Given the description of an element on the screen output the (x, y) to click on. 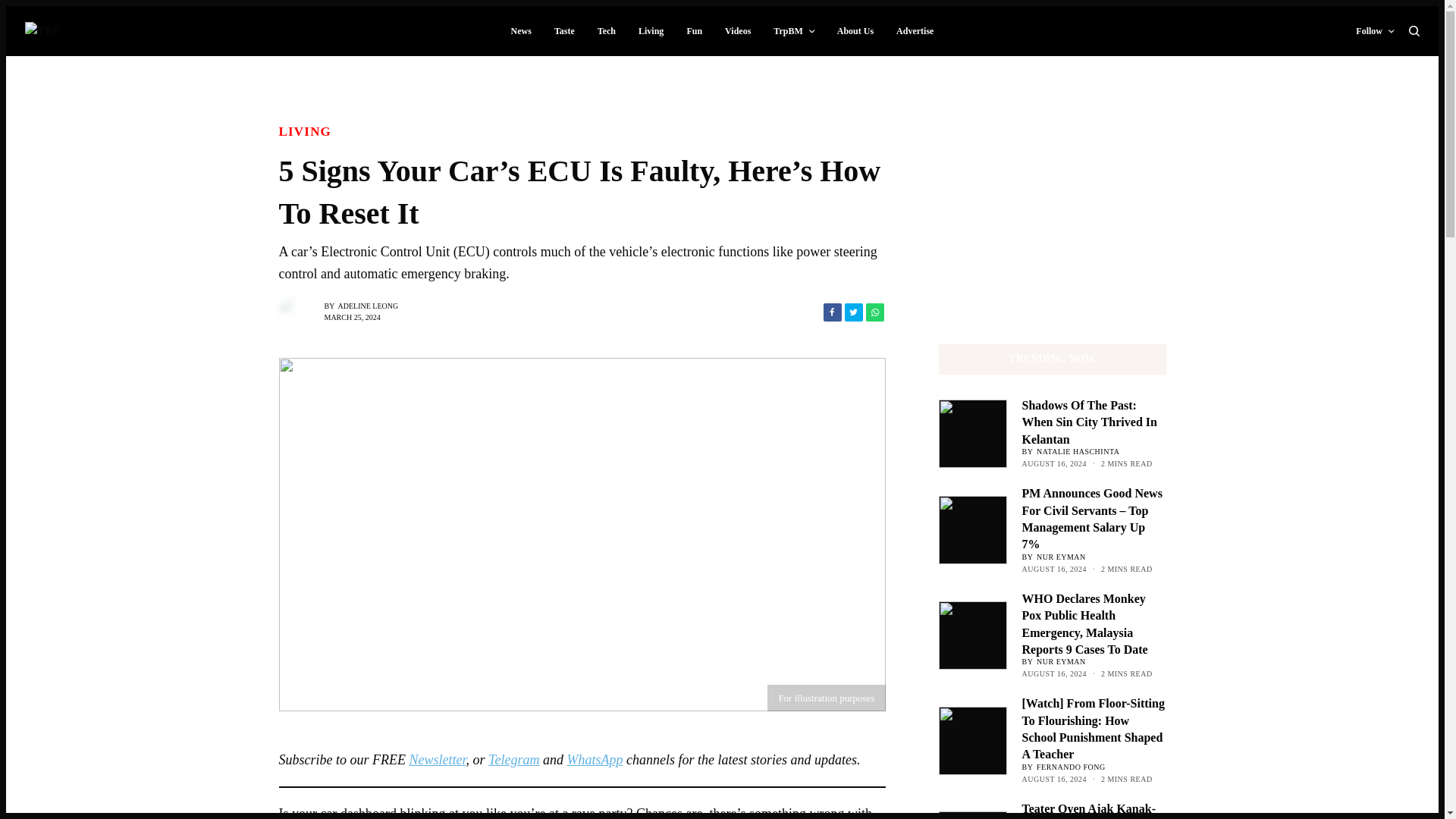
Posts by Adeline Leong (367, 306)
Newsletter (437, 759)
ADELINE LEONG (367, 306)
WhatsApp (595, 759)
TRP (41, 30)
Telegram (512, 759)
Living (305, 129)
